Given the description of an element on the screen output the (x, y) to click on. 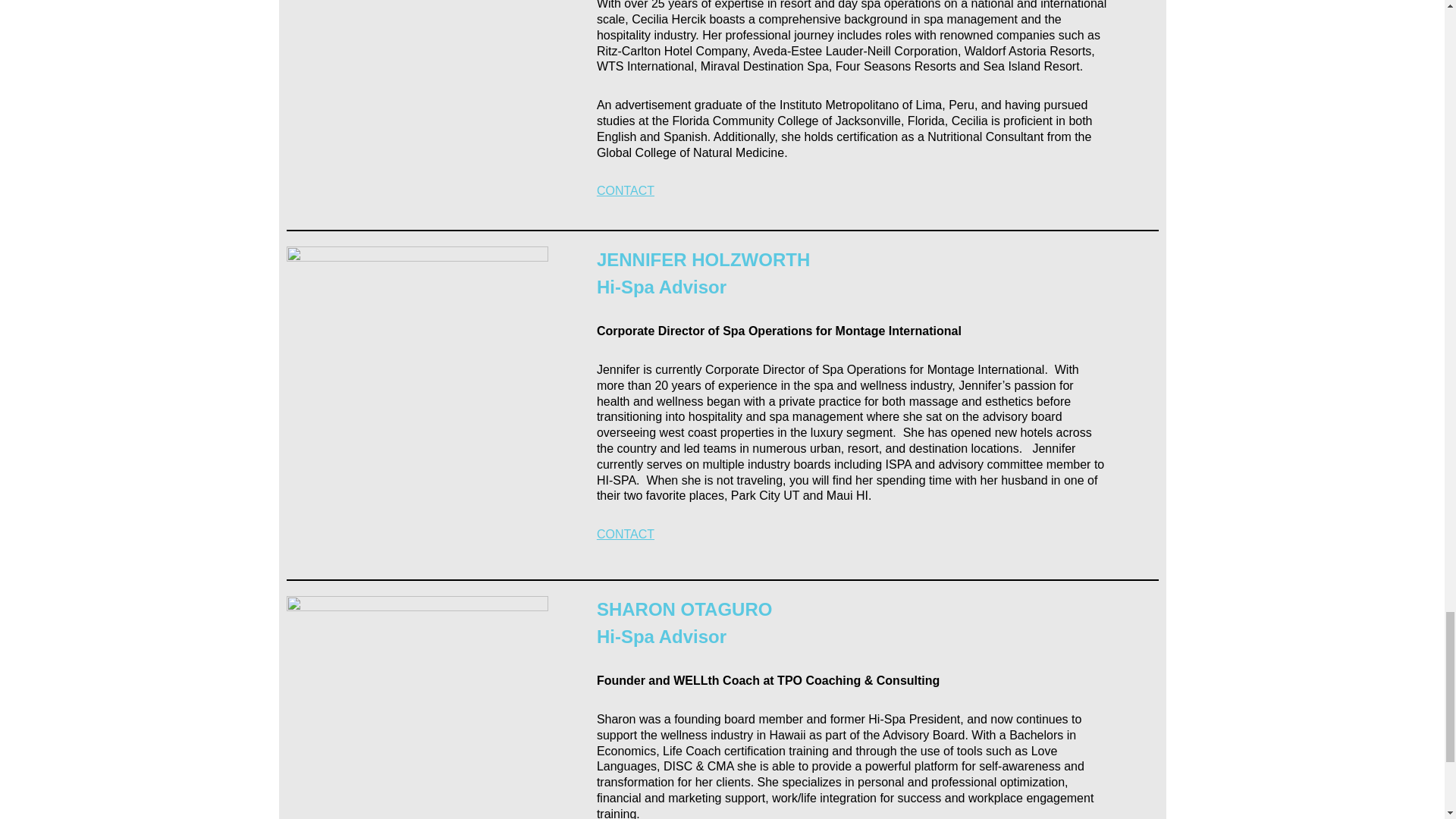
CONTACT (624, 533)
CONTACT (624, 190)
